Given the description of an element on the screen output the (x, y) to click on. 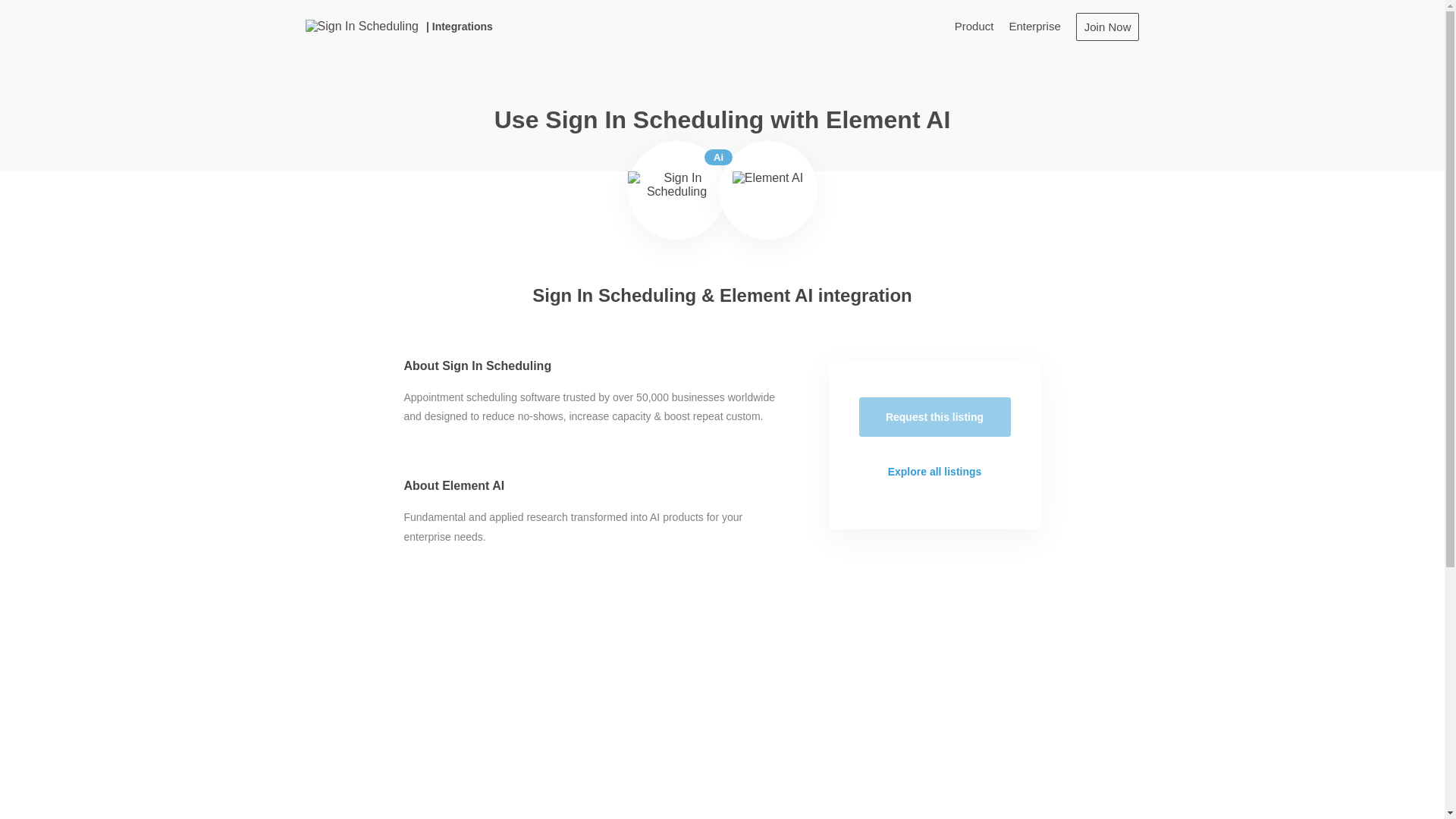
Element AI (767, 190)
Product (974, 25)
Join Now (1107, 26)
Explore all listings (934, 471)
Enterprise (1034, 25)
Request this listing (934, 416)
Sign In Scheduling (676, 190)
Sign In Scheduling (360, 26)
